Given the description of an element on the screen output the (x, y) to click on. 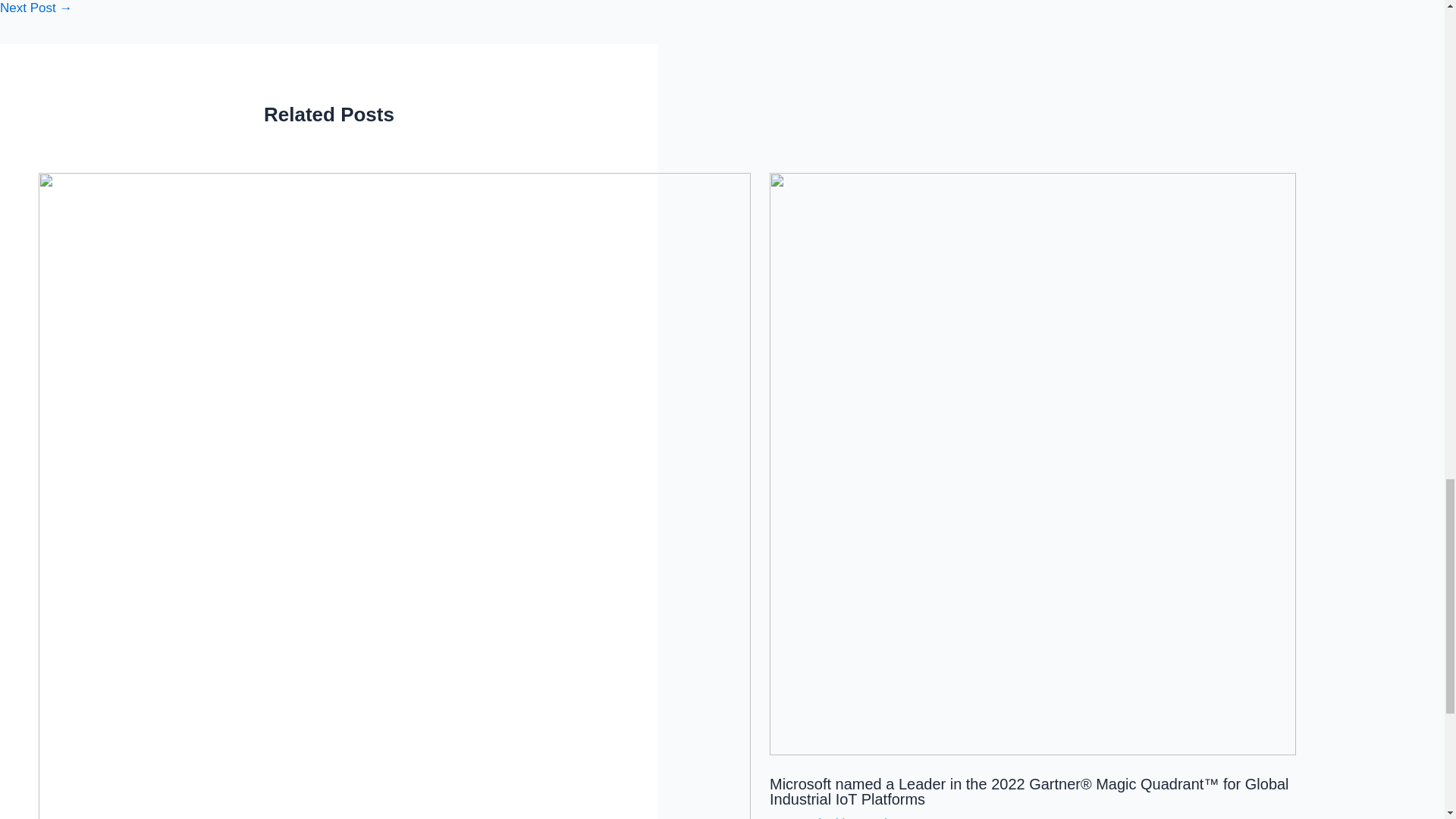
Uncategorized (804, 817)
View all posts by Jacob Carter (892, 817)
Jacob Carter (892, 817)
